Given the description of an element on the screen output the (x, y) to click on. 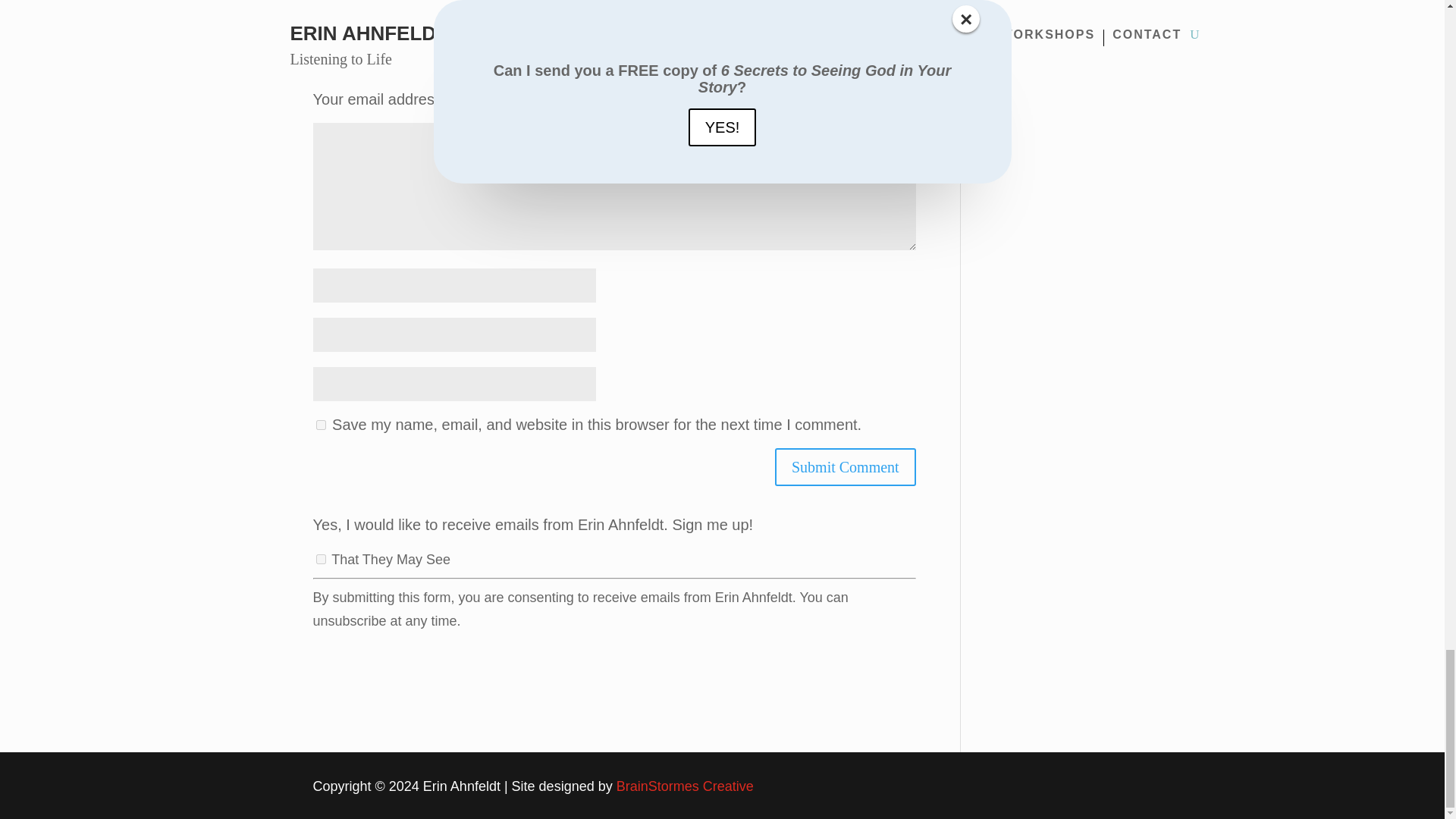
Submit Comment (844, 466)
BrainStormes Creative (684, 785)
yes (319, 424)
Submit Comment (844, 466)
1057116798 (319, 559)
